Given the description of an element on the screen output the (x, y) to click on. 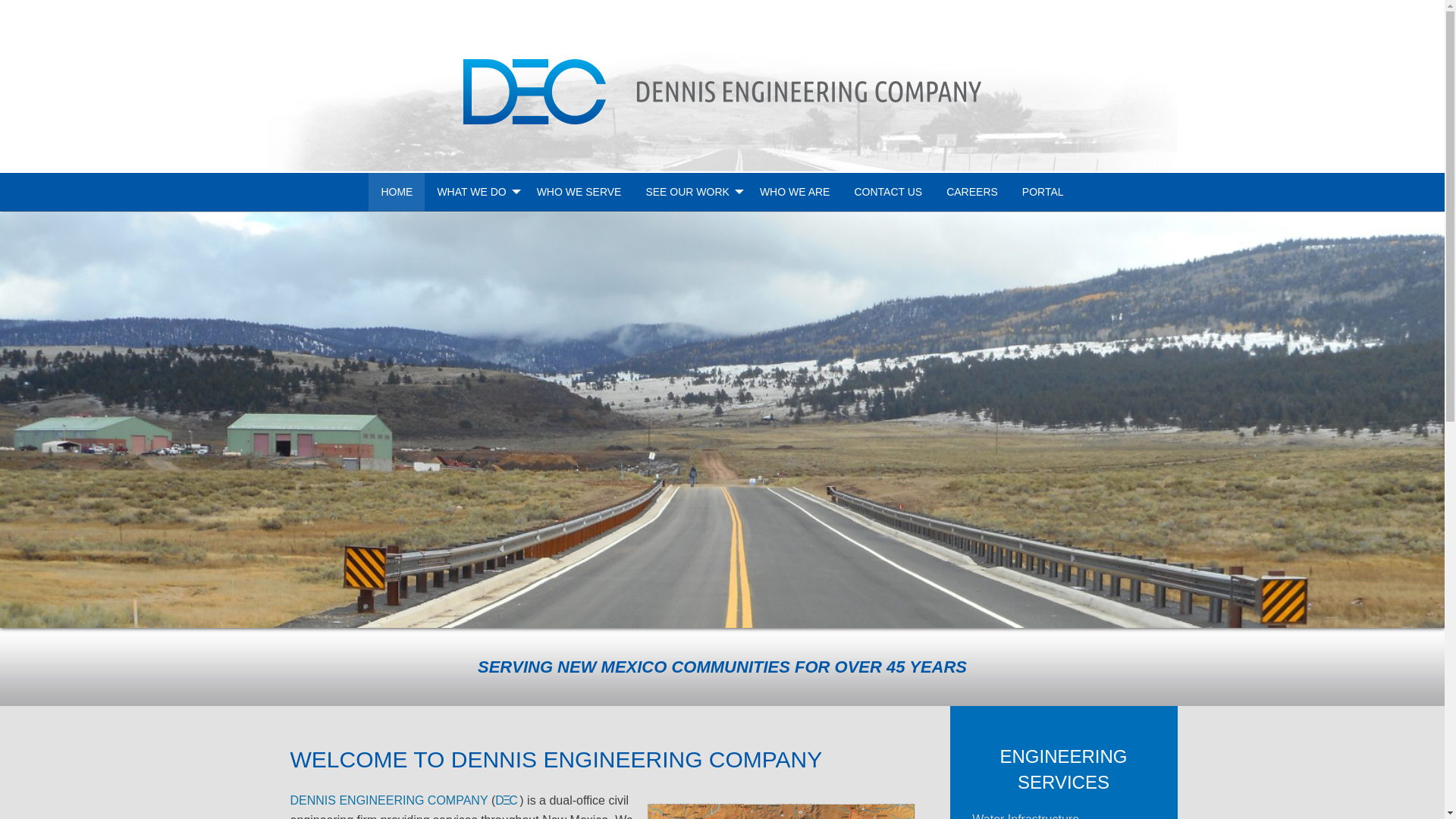
SEE OUR WORK (689, 191)
HOME (396, 191)
WHAT WE DO (474, 191)
WHO WE SERVE (578, 191)
CONTACT US (887, 191)
WHO WE ARE (795, 191)
Water Infrastructure (1025, 816)
PORTAL (1042, 191)
CAREERS (972, 191)
